Given the description of an element on the screen output the (x, y) to click on. 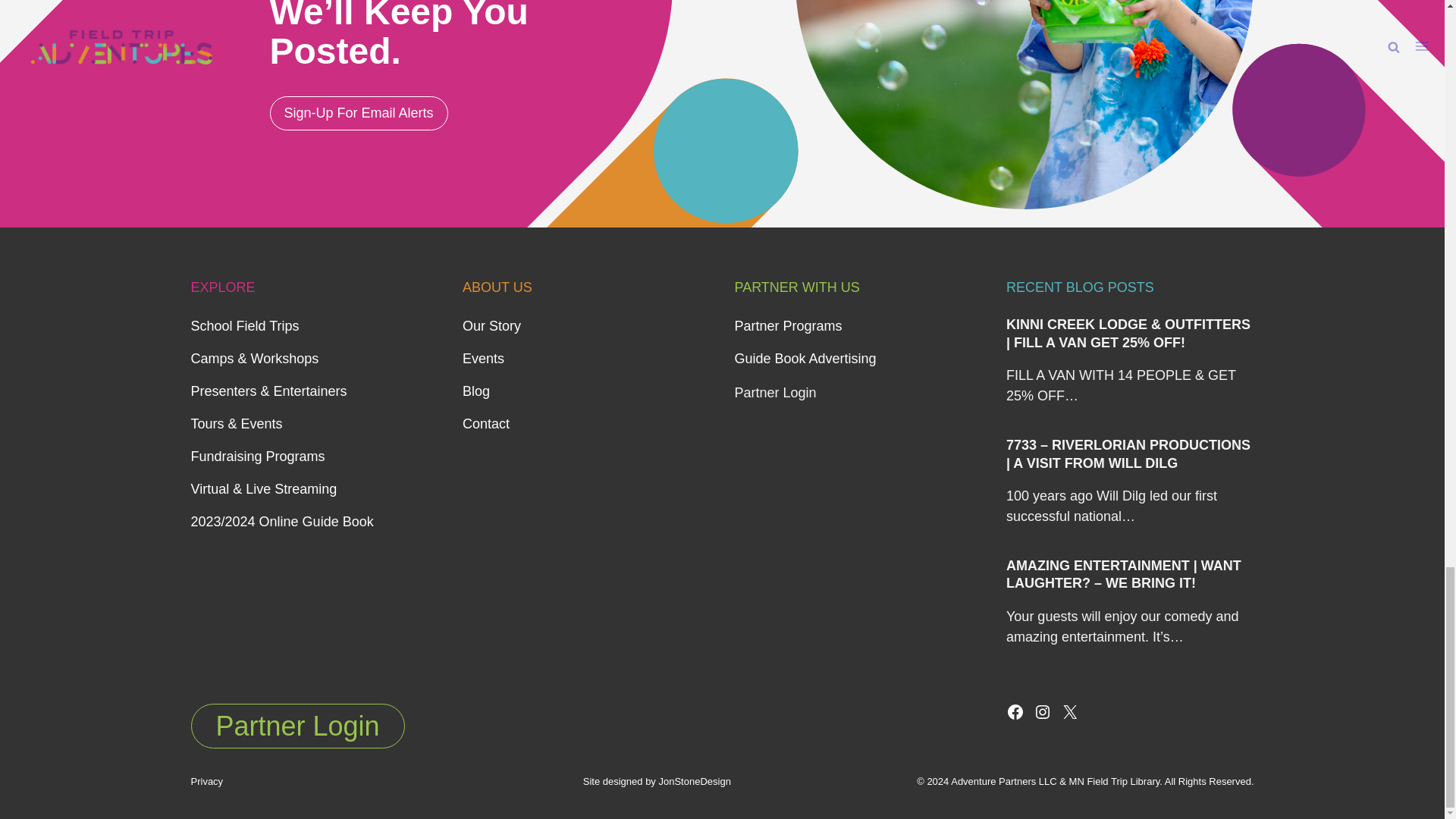
Our Story (492, 325)
Events (483, 358)
Contact (486, 423)
Partner Programs (787, 325)
Guide Book Advertising (804, 358)
X (1069, 711)
School Field Trips (244, 325)
Blog (476, 391)
Privacy (207, 781)
Partner Login (297, 725)
